Given the description of an element on the screen output the (x, y) to click on. 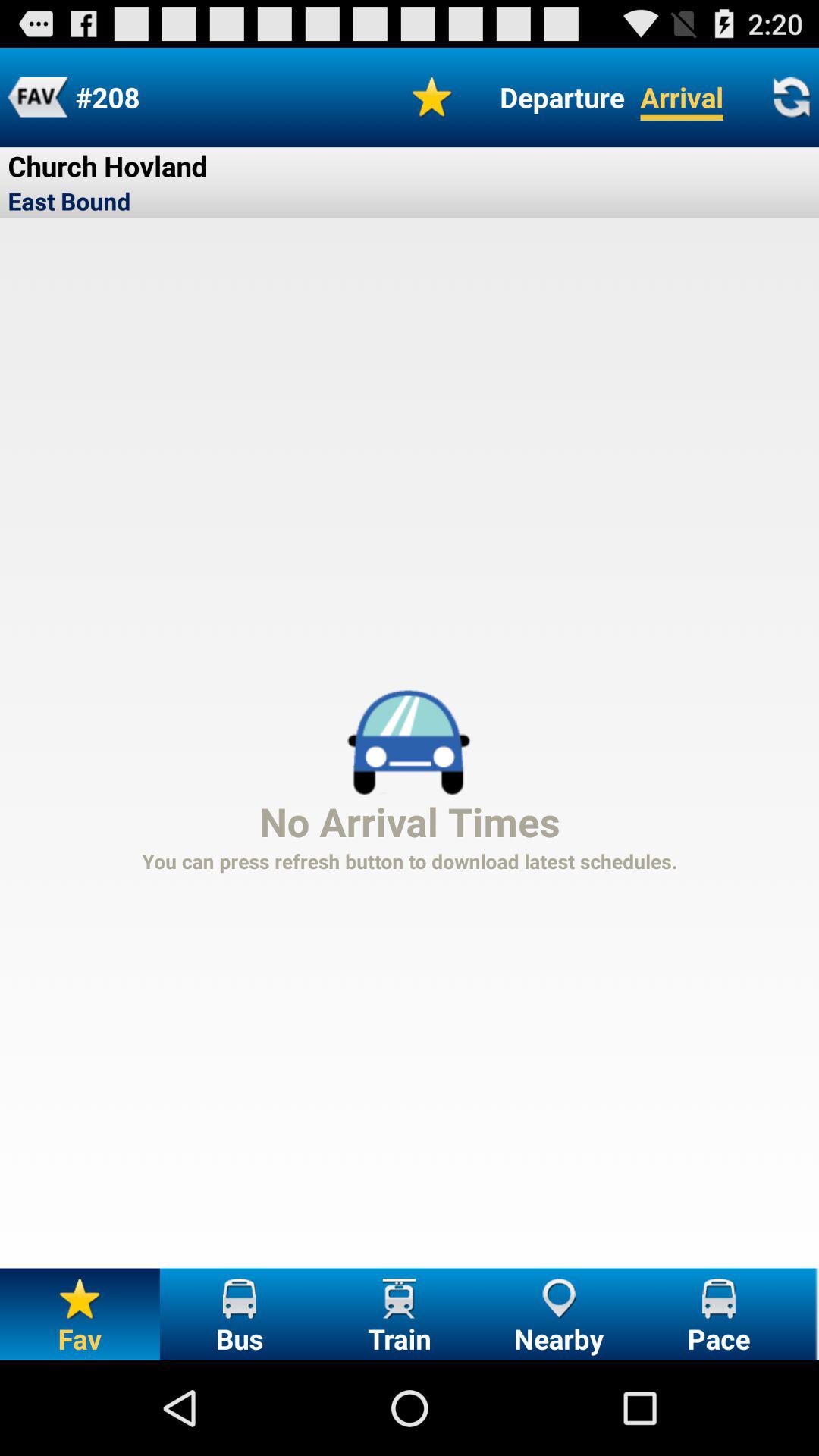
turn off the icon next to the departure icon (432, 97)
